Given the description of an element on the screen output the (x, y) to click on. 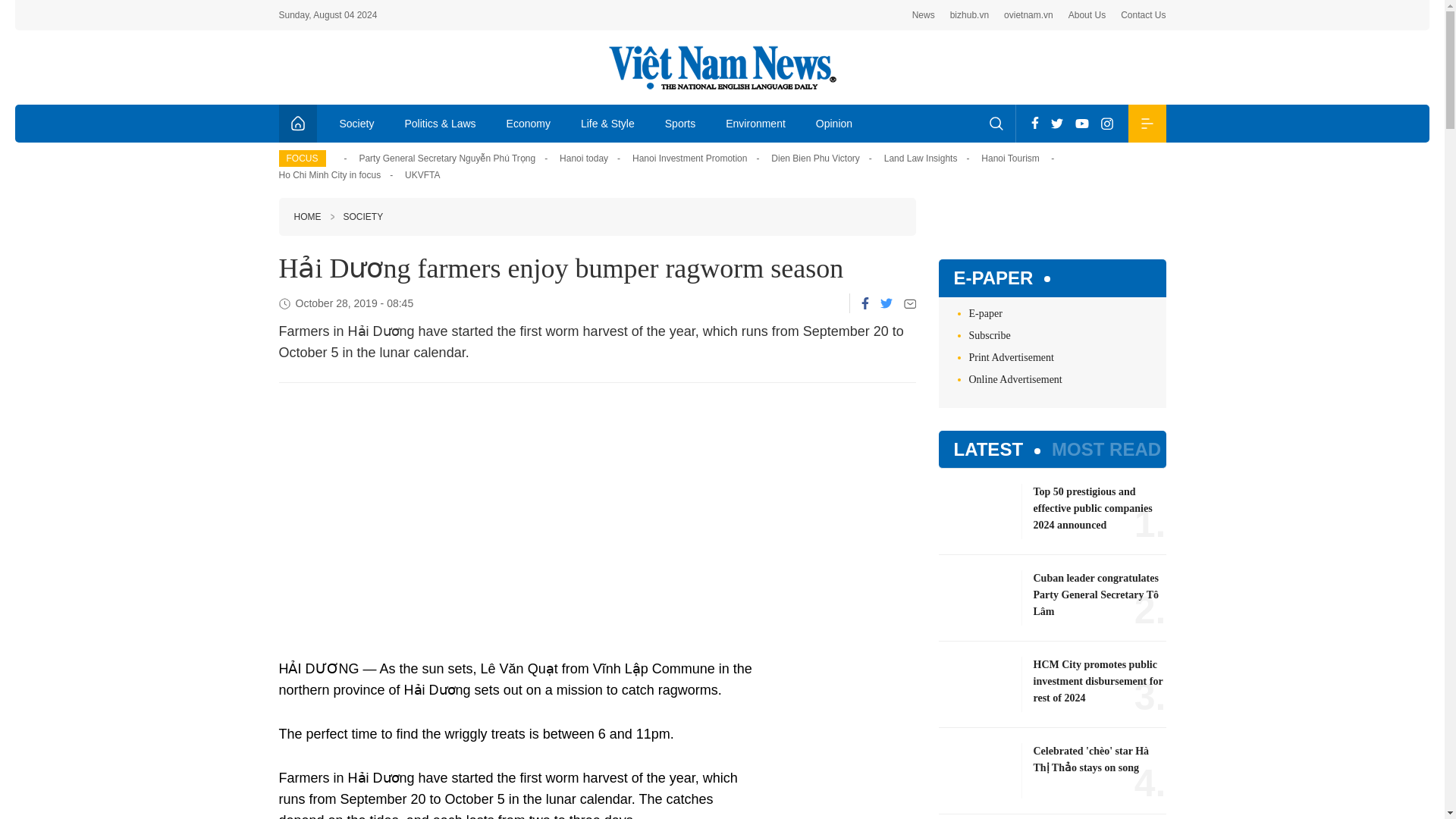
Contact Us (1143, 15)
Facebook (1035, 123)
Youtube (1081, 122)
Instagram (1106, 123)
ovietnam.vn (1028, 15)
bizhub.vn (969, 15)
Twitter (885, 303)
Twitter (1056, 122)
Society (357, 123)
Opinion (833, 123)
News (923, 15)
Email (909, 303)
Economy (529, 123)
Environment (755, 123)
About Us (1086, 15)
